Given the description of an element on the screen output the (x, y) to click on. 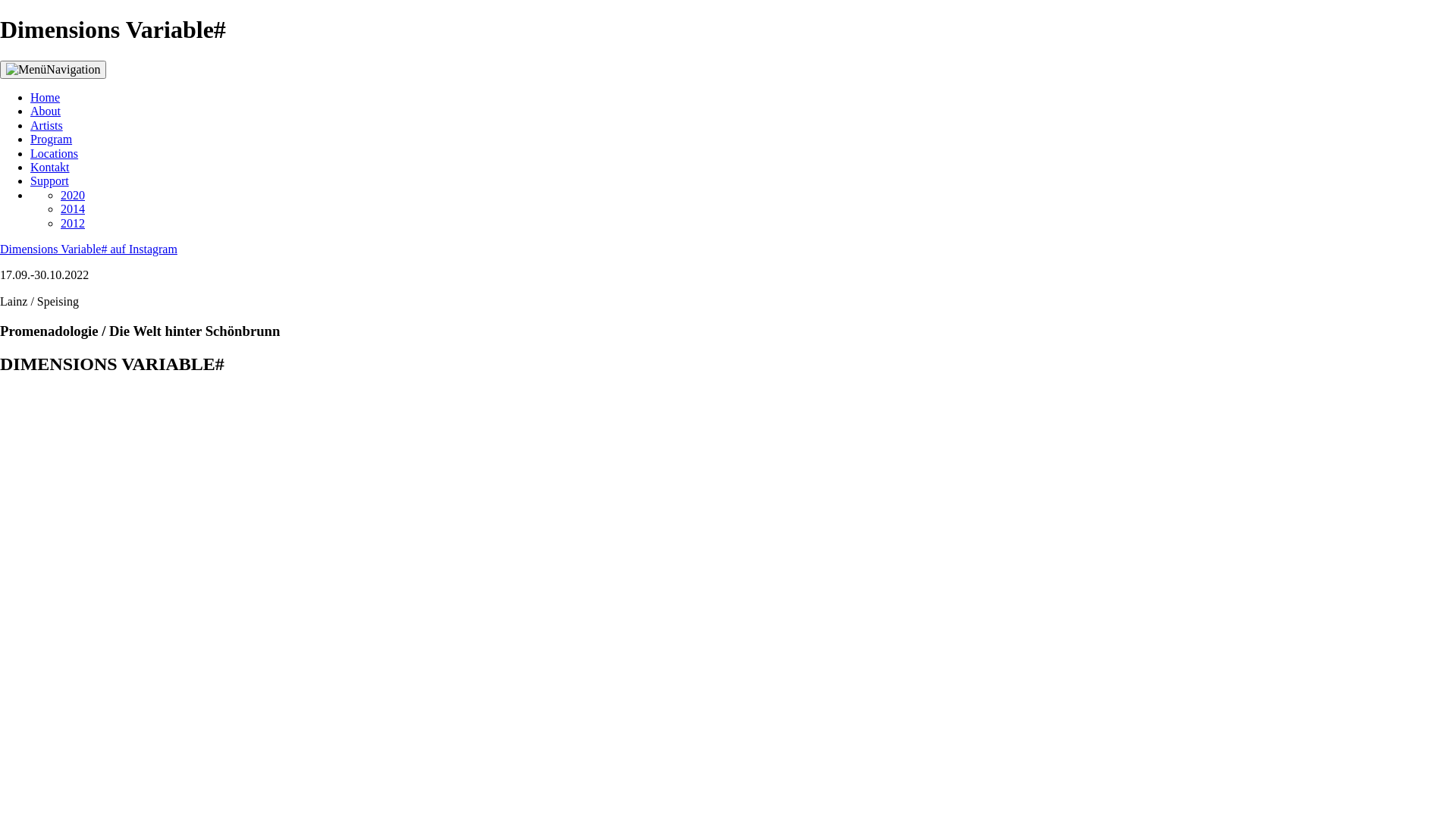
2020 Element type: text (72, 194)
2012 Element type: text (72, 222)
Support Element type: text (49, 180)
About Element type: text (45, 110)
Artists Element type: text (46, 125)
Program Element type: text (51, 138)
Navigation Element type: text (53, 69)
Kontakt Element type: text (49, 166)
Locations Element type: text (54, 153)
Dimensions Variable# auf Instagram Element type: text (88, 248)
Home Element type: text (44, 97)
2014 Element type: text (72, 208)
